Given the description of an element on the screen output the (x, y) to click on. 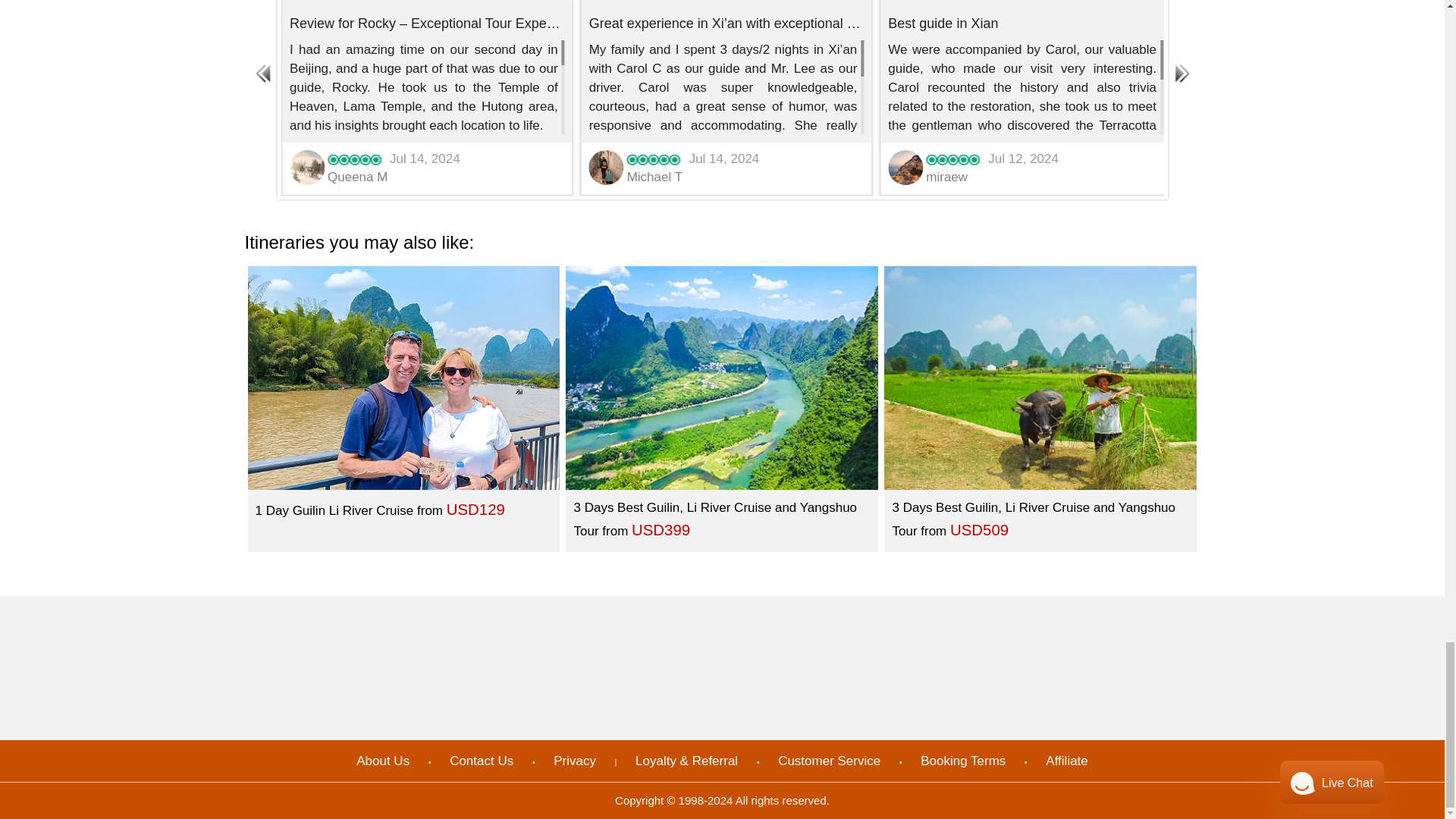
Yangshuo rural scenery (1039, 377)
Our Guests on Li River Cruise (403, 377)
Li River, Guilin (721, 377)
1 Day Guilin Li River Cruise from USD129 (403, 407)
